Given the description of an element on the screen output the (x, y) to click on. 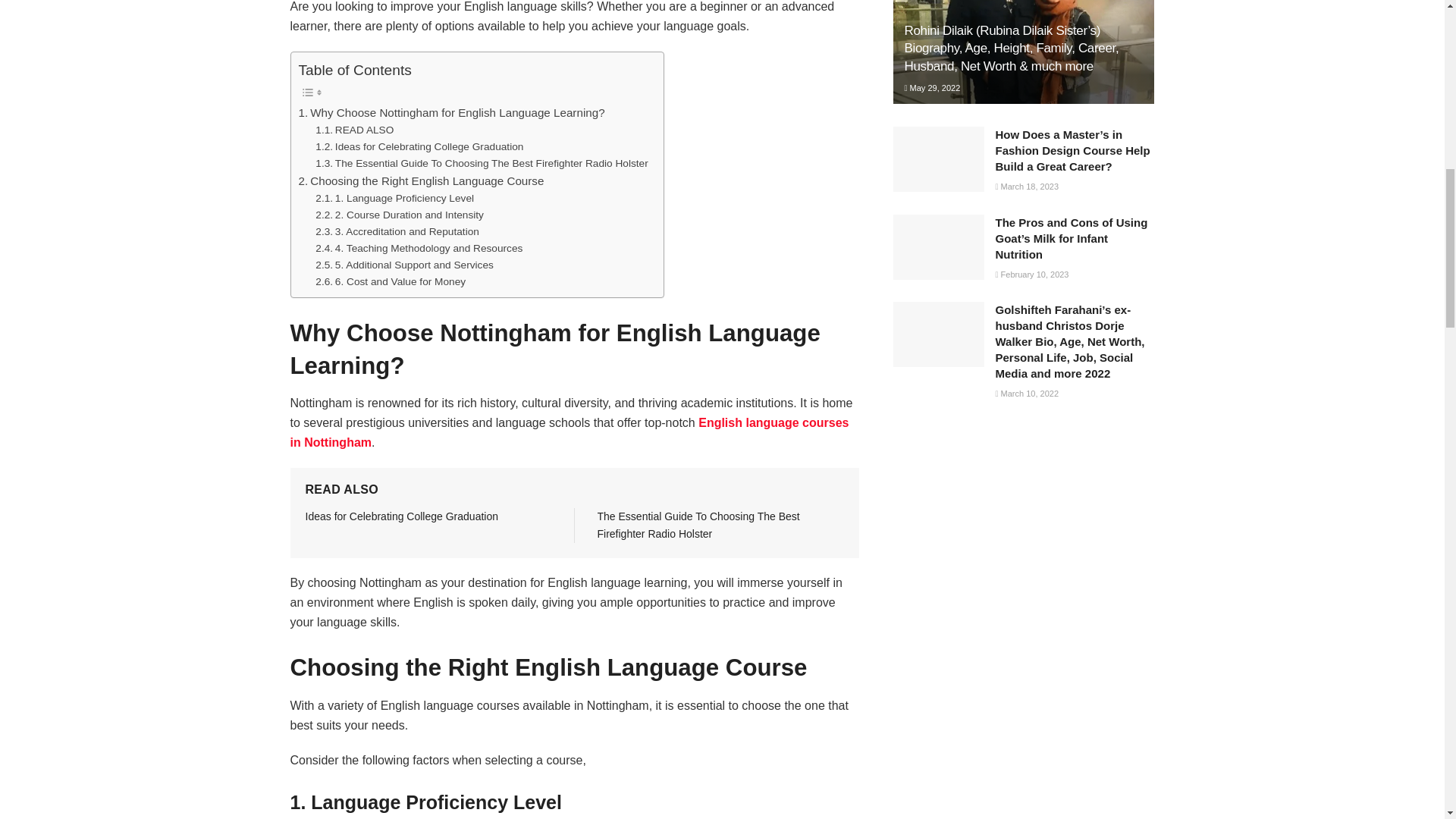
4. Teaching Methodology and Resources (418, 248)
READ ALSO (354, 130)
6. Cost and Value for Money (390, 281)
3. Accreditation and Reputation (397, 231)
5. Additional Support and Services (404, 265)
1. Language Proficiency Level (394, 198)
Why Choose Nottingham for English Language Learning? (451, 113)
Ideas for Celebrating College Graduation (418, 146)
Choosing the Right English Language Course (421, 180)
2. Course Duration and Intensity (399, 215)
